Given the description of an element on the screen output the (x, y) to click on. 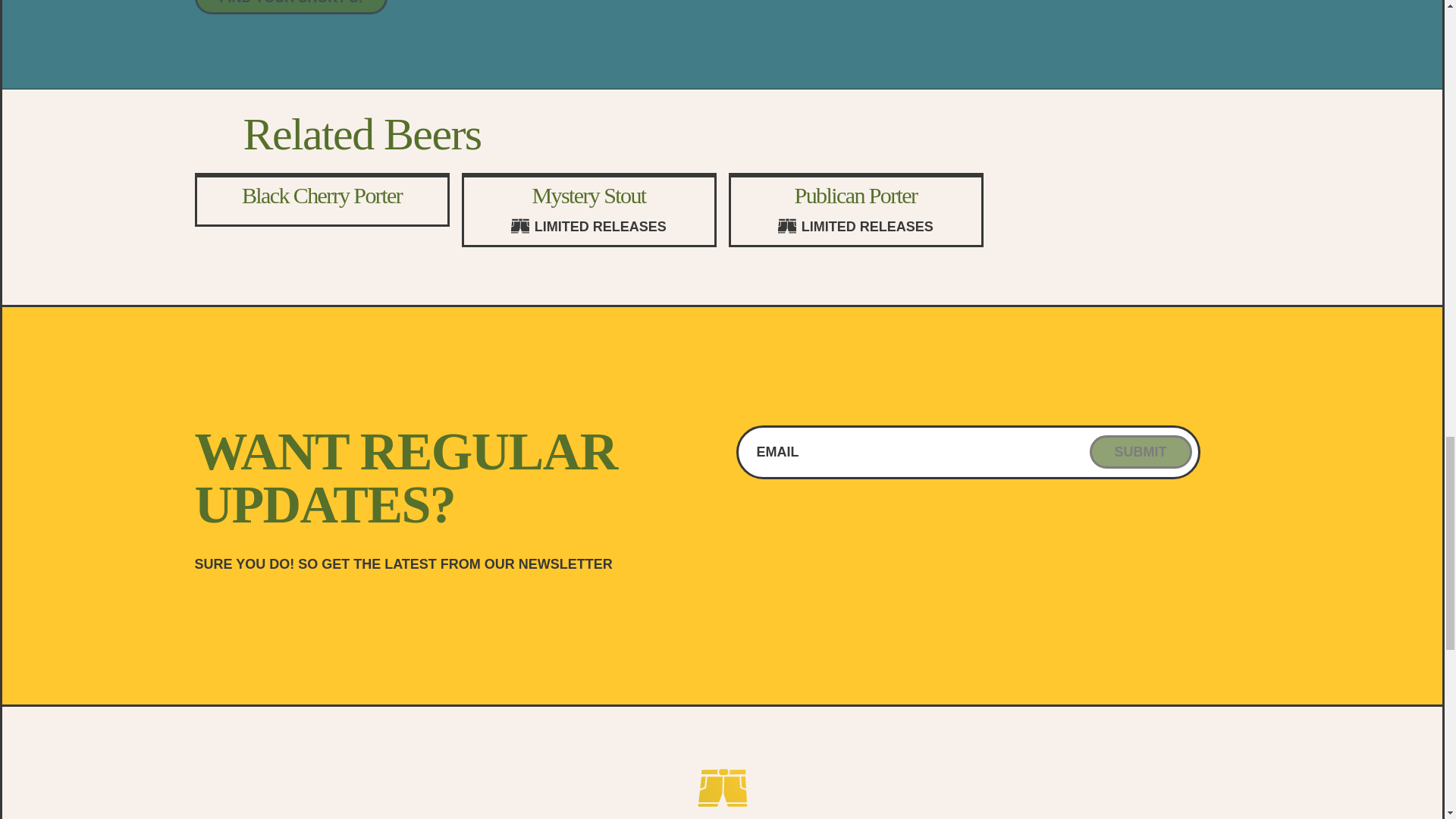
Submit (1140, 451)
